Given the description of an element on the screen output the (x, y) to click on. 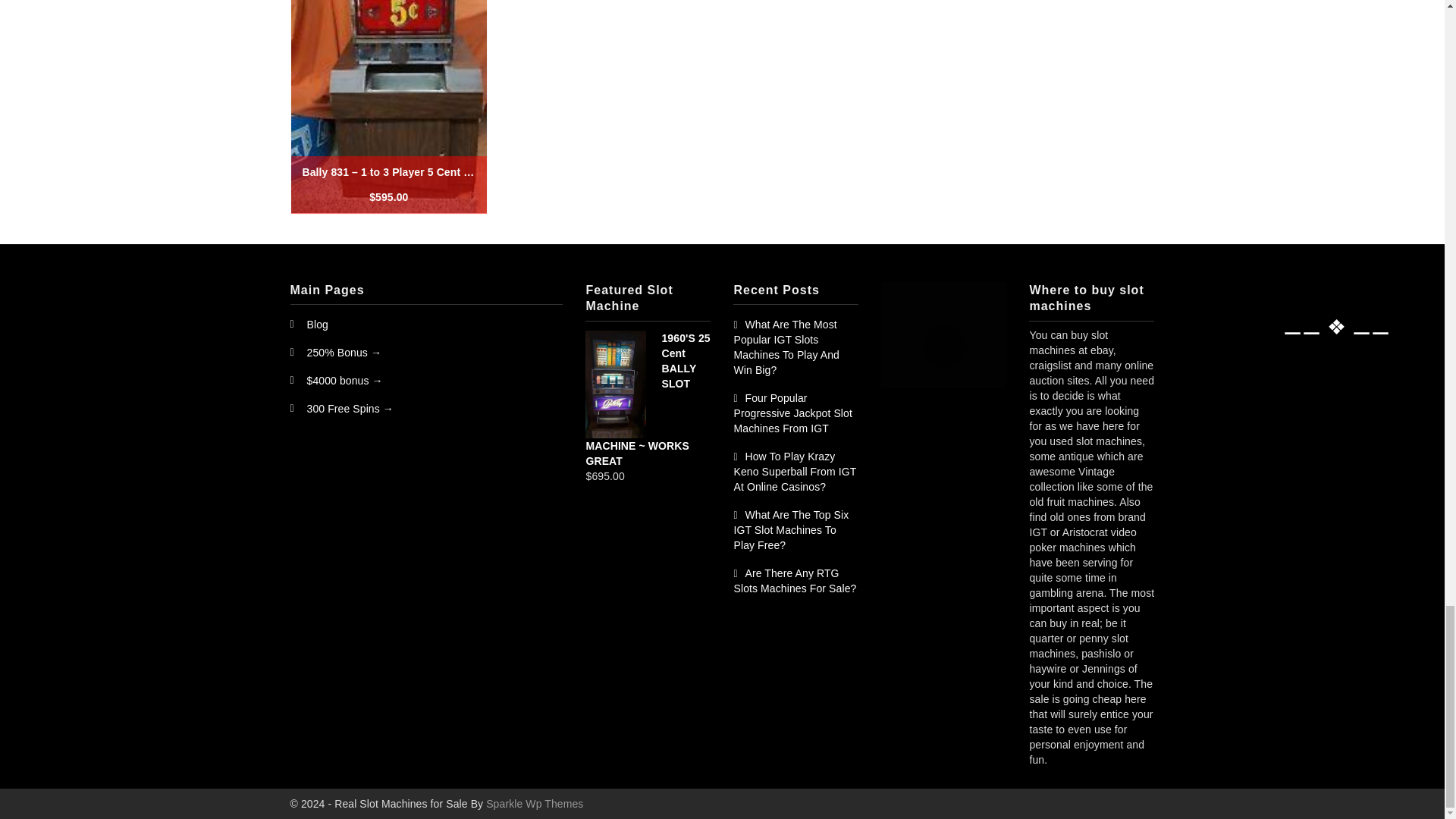
Blog (316, 324)
